Given the description of an element on the screen output the (x, y) to click on. 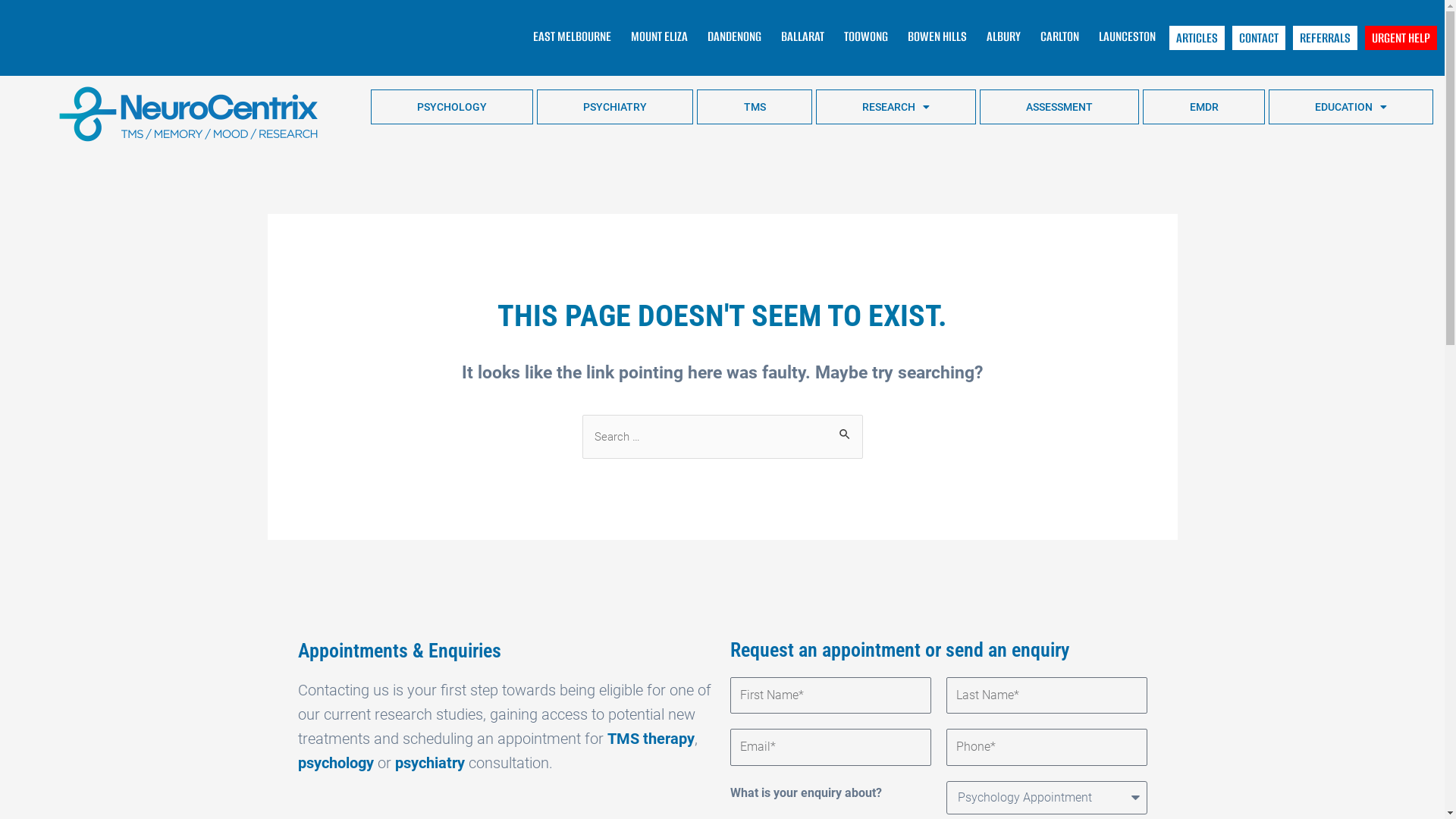
MOUNT ELIZA Element type: text (658, 36)
EAST MELBOURNE Element type: text (572, 36)
REFERRALS Element type: text (1324, 37)
PSYCHIATRY Element type: text (614, 106)
RESEARCH Element type: text (895, 106)
psychiatry Element type: text (429, 762)
TOOWONG Element type: text (865, 36)
ASSESSMENT Element type: text (1059, 106)
EDUCATION Element type: text (1350, 106)
BALLARAT Element type: text (802, 36)
BOWEN HILLS Element type: text (936, 36)
CARLTON Element type: text (1059, 36)
LAUNCESTON Element type: text (1126, 36)
PSYCHOLOGY Element type: text (451, 106)
URGENT HELP Element type: text (1401, 37)
DANDENONG Element type: text (734, 36)
psychology Element type: text (335, 762)
TMS Element type: text (753, 106)
Search Element type: text (845, 429)
ARTICLES Element type: text (1196, 37)
CONTACT Element type: text (1258, 37)
EMDR Element type: text (1203, 106)
ALBURY Element type: text (1003, 36)
TMS therapy Element type: text (649, 738)
